Given the description of an element on the screen output the (x, y) to click on. 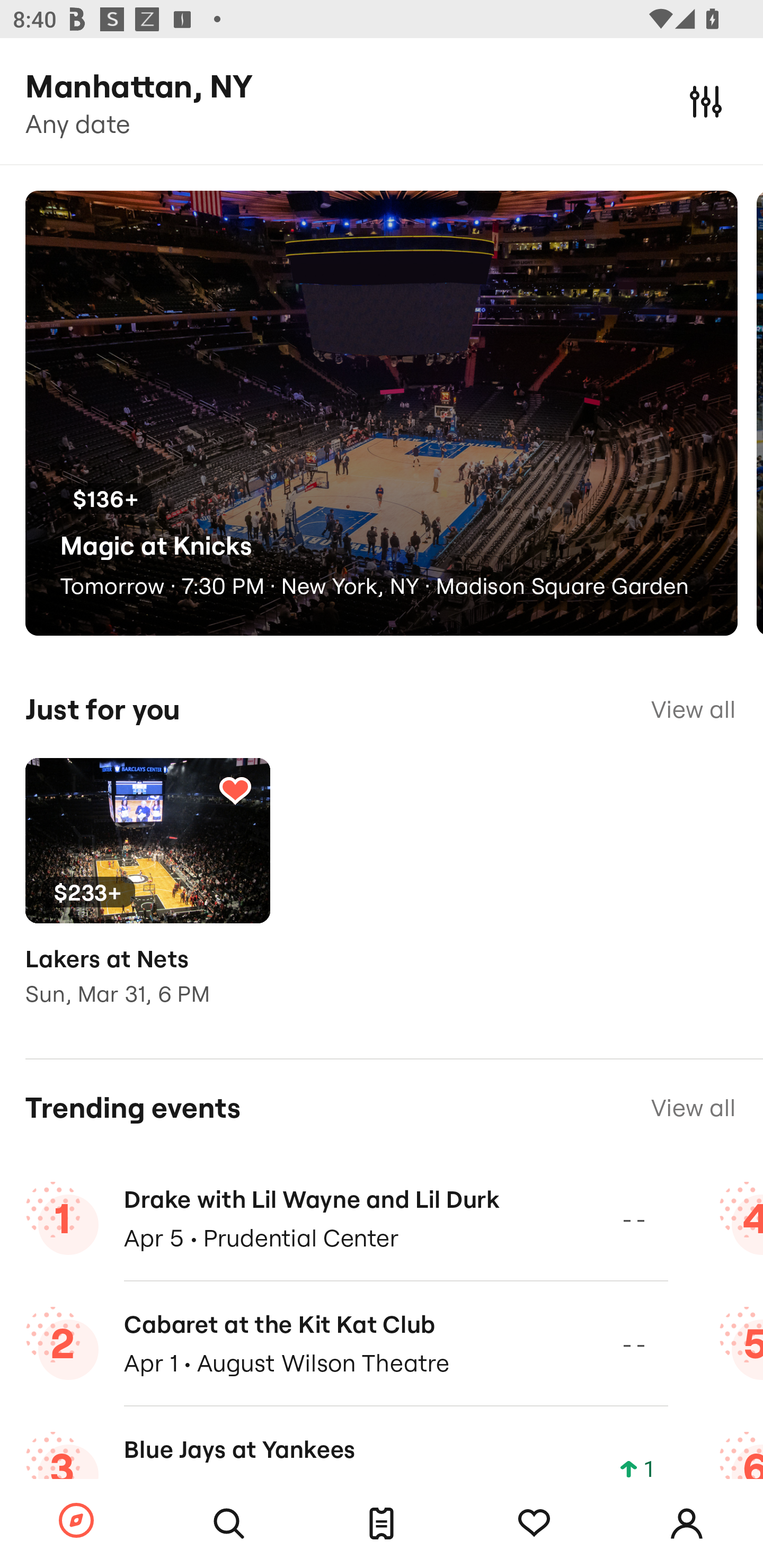
Filters (705, 100)
View all (693, 709)
Tracking $233+ Lakers at Nets Sun, Mar 31, 6 PM (147, 895)
Tracking (234, 790)
View all (693, 1108)
Browse (76, 1521)
Search (228, 1523)
Tickets (381, 1523)
Tracking (533, 1523)
Account (686, 1523)
